Given the description of an element on the screen output the (x, y) to click on. 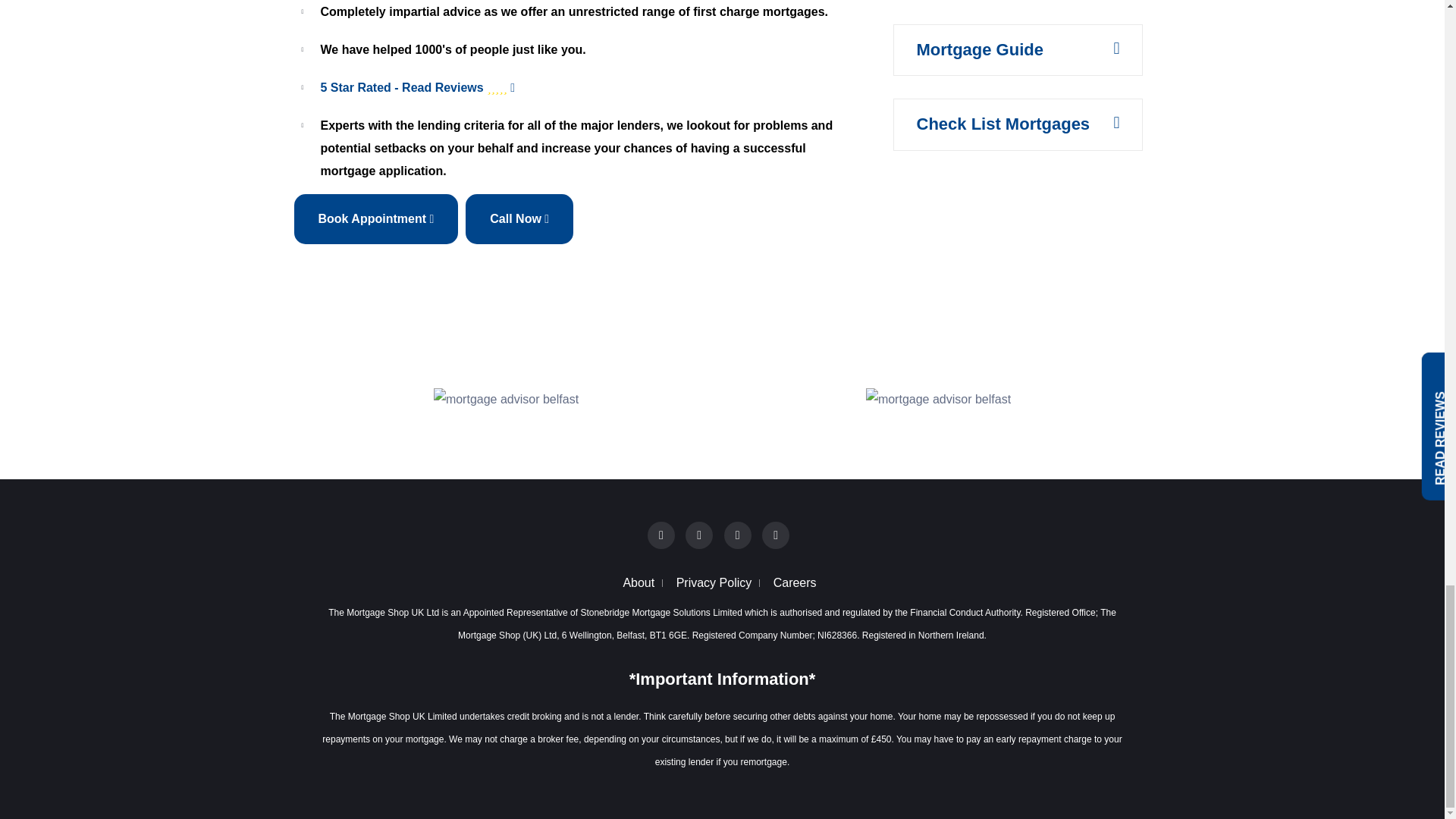
Twitter (699, 534)
Linkedin (737, 534)
Verified Reviews From Google - Facebook (587, 87)
All You Need To Know (978, 49)
All You Need To Know (1002, 123)
Book Instant Appointment (376, 218)
Instagram (775, 534)
Facebook (661, 534)
Call Now (519, 218)
